Given the description of an element on the screen output the (x, y) to click on. 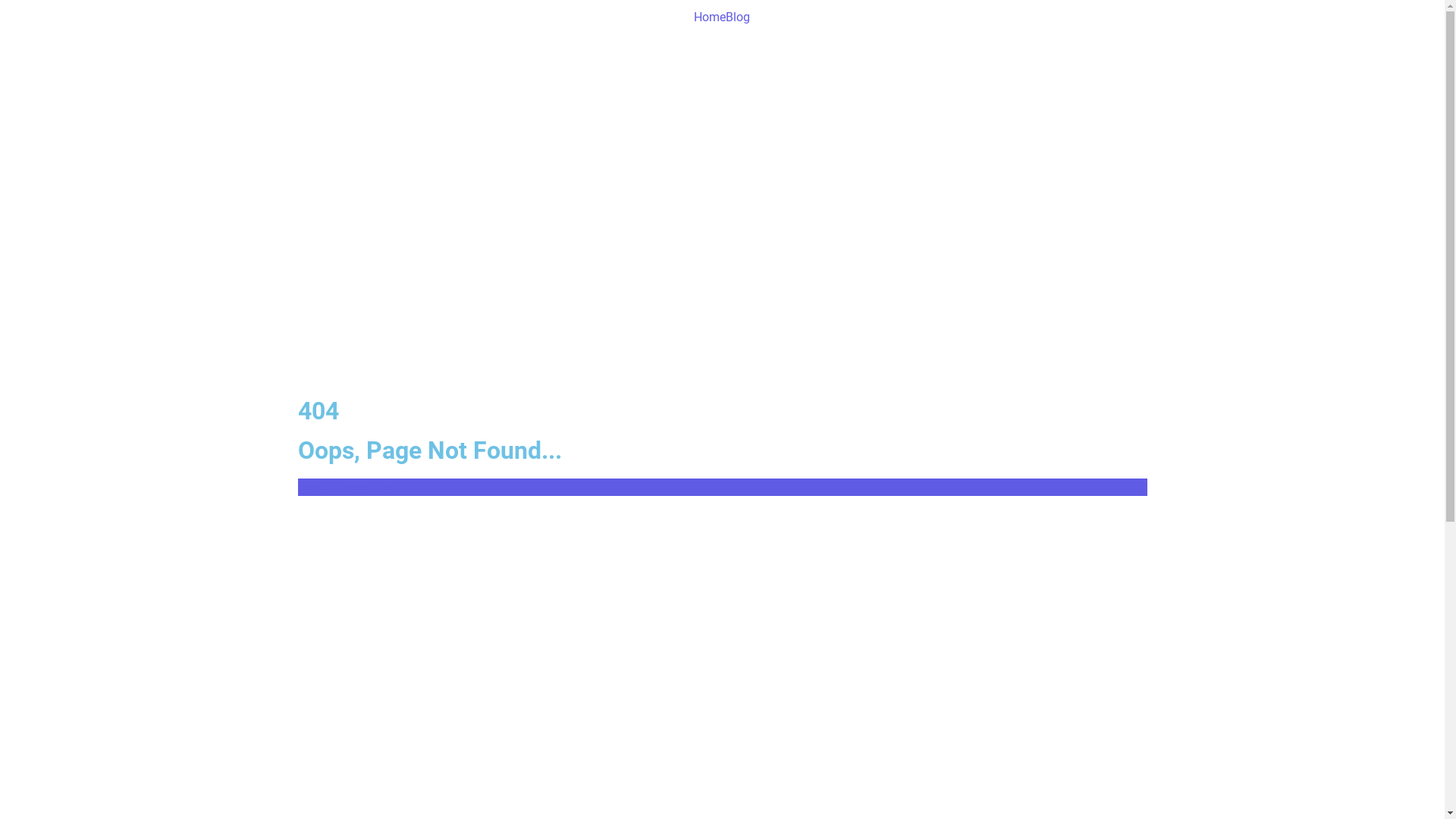
Back To Home Page Element type: text (721, 486)
Blog Element type: text (737, 18)
Home Element type: text (709, 18)
